Given the description of an element on the screen output the (x, y) to click on. 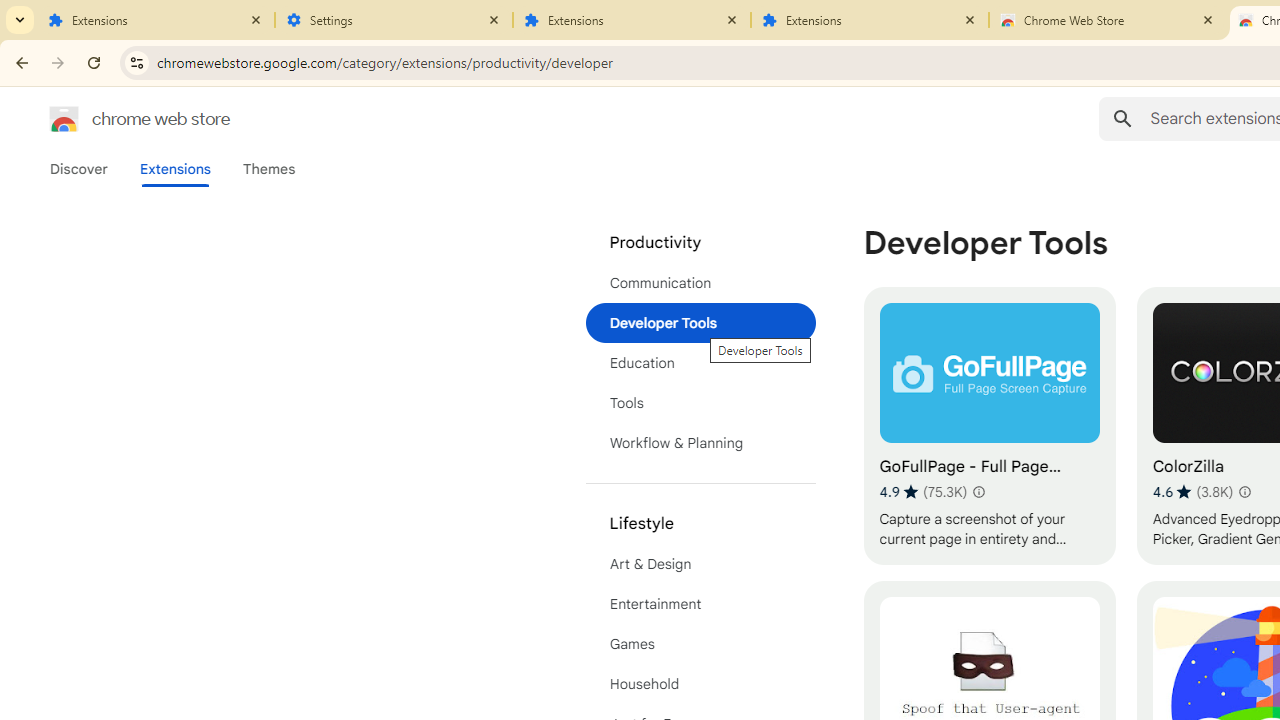
Average rating 4.9 out of 5 stars. 75.3K ratings. (923, 491)
Settings (394, 20)
Extensions (174, 169)
Chrome Web Store logo chrome web store (118, 118)
Learn more about results and reviews "ColorZilla" (1244, 491)
Games (700, 643)
Themes (269, 169)
Tools (700, 403)
Average rating 4.6 out of 5 stars. 3.8K ratings. (1192, 491)
Chrome Web Store logo (63, 118)
Chrome Web Store (1108, 20)
Discover (79, 169)
